Given the description of an element on the screen output the (x, y) to click on. 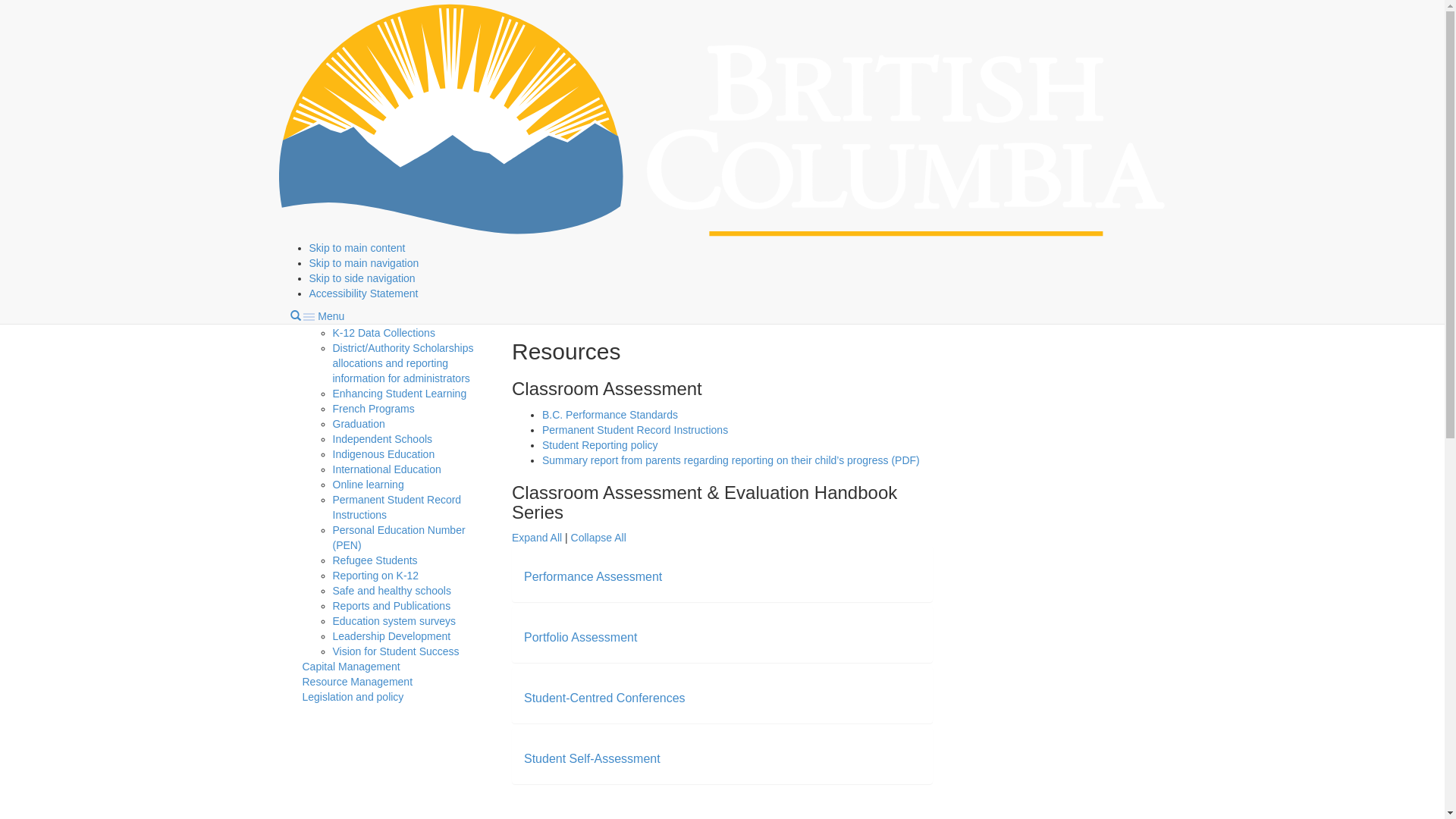
Permanent Student Record Instructions Element type: text (396, 506)
Graduation Element type: text (358, 423)
Refugee Students Element type: text (374, 560)
International Education Element type: text (386, 469)
Foundation Skills Assessment Element type: text (402, 173)
Education and training Element type: text (398, 13)
Legislation and policy Element type: text (352, 696)
National and international assessments Element type: text (393, 211)
Kindergarten to Grade 12 Element type: text (528, 13)
Vision for Student Success Element type: text (395, 651)
Program management Element type: text (740, 13)
Resource Management Element type: text (356, 681)
Online learning Element type: text (367, 484)
Program management Element type: text (354, 90)
Permanent Student Record Instructions Element type: text (635, 429)
Student Self-Assessment Element type: text (592, 758)
Children and youth in care Element type: text (393, 287)
Skip to main content Element type: text (357, 247)
Indigenous Education Element type: text (383, 454)
Using assessment data Element type: text (417, 272)
Climate Change Element type: text (369, 302)
CommunityLINK Element type: text (370, 317)
B.C. Performance Standards Element type: text (609, 414)
Collapse All Element type: text (598, 537)
Curriculum.Assessment@gov.bc.ca Element type: text (1039, 172)
Portfolio Assessment Element type: text (580, 636)
Skip to side navigation Element type: text (362, 278)
French Programs Element type: text (373, 408)
Enhancing Student Learning Element type: text (399, 393)
Adjudication Element type: text (391, 120)
Reporting on K-12 Element type: text (375, 575)
Education system surveys Element type: text (393, 621)
K-12 Data Collections Element type: text (383, 332)
Menu Element type: text (323, 316)
Leadership Development Element type: text (391, 636)
Skip to main navigation Element type: text (364, 263)
Performance Assessment Element type: text (593, 576)
Home Element type: text (315, 13)
Graduation Assessments Element type: text (393, 249)
Expand All Element type: text (536, 537)
Government of B.C. Element type: hover (337, 61)
Personal Education Number (PEN) Element type: text (398, 537)
Assessments Element type: text (363, 105)
Independent Schools Element type: text (382, 439)
Safe and healthy schools Element type: text (391, 590)
Government of B.C. Element type: hover (722, 120)
Assessments Element type: text (841, 13)
Accessibility Statement Element type: text (363, 293)
Classroom Assessment Element type: text (417, 135)
Student-Centred Conferences Element type: text (604, 697)
Administration Element type: text (637, 13)
Capital Management Element type: text (350, 666)
Reports and Publications Element type: text (391, 605)
Resources Element type: text (417, 150)
Student Reporting policy Element type: text (600, 445)
